Given the description of an element on the screen output the (x, y) to click on. 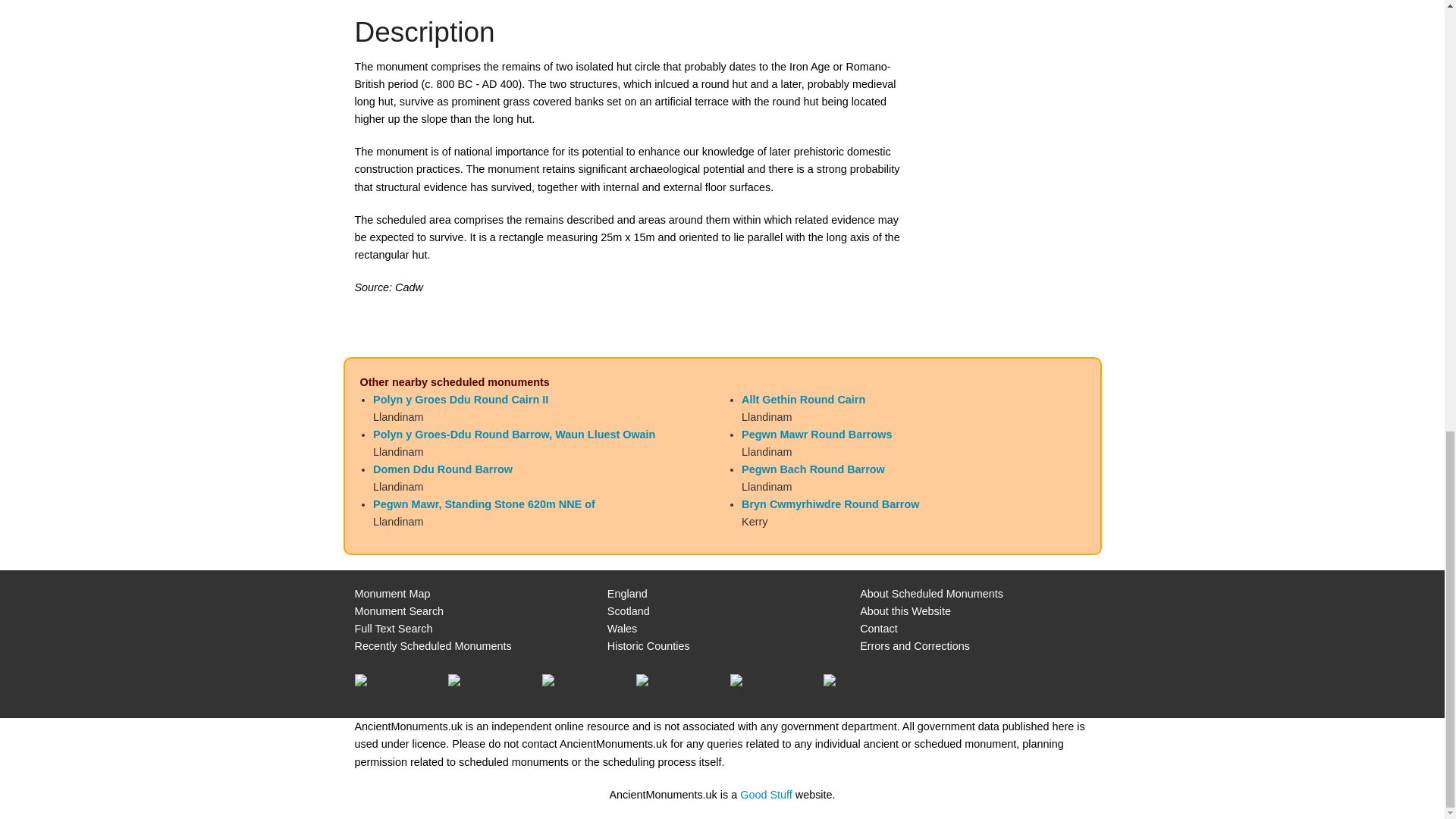
Allt Gethin Round Cairn (802, 399)
Domen Ddu Round Barrow (442, 469)
Polyn y Groes Ddu Round Cairn II (460, 399)
Pegwn Mawr, Standing Stone 620m NNE of (483, 503)
Polyn y Groes-Ddu Round Barrow, Waun Lluest Owain (513, 434)
